Given the description of an element on the screen output the (x, y) to click on. 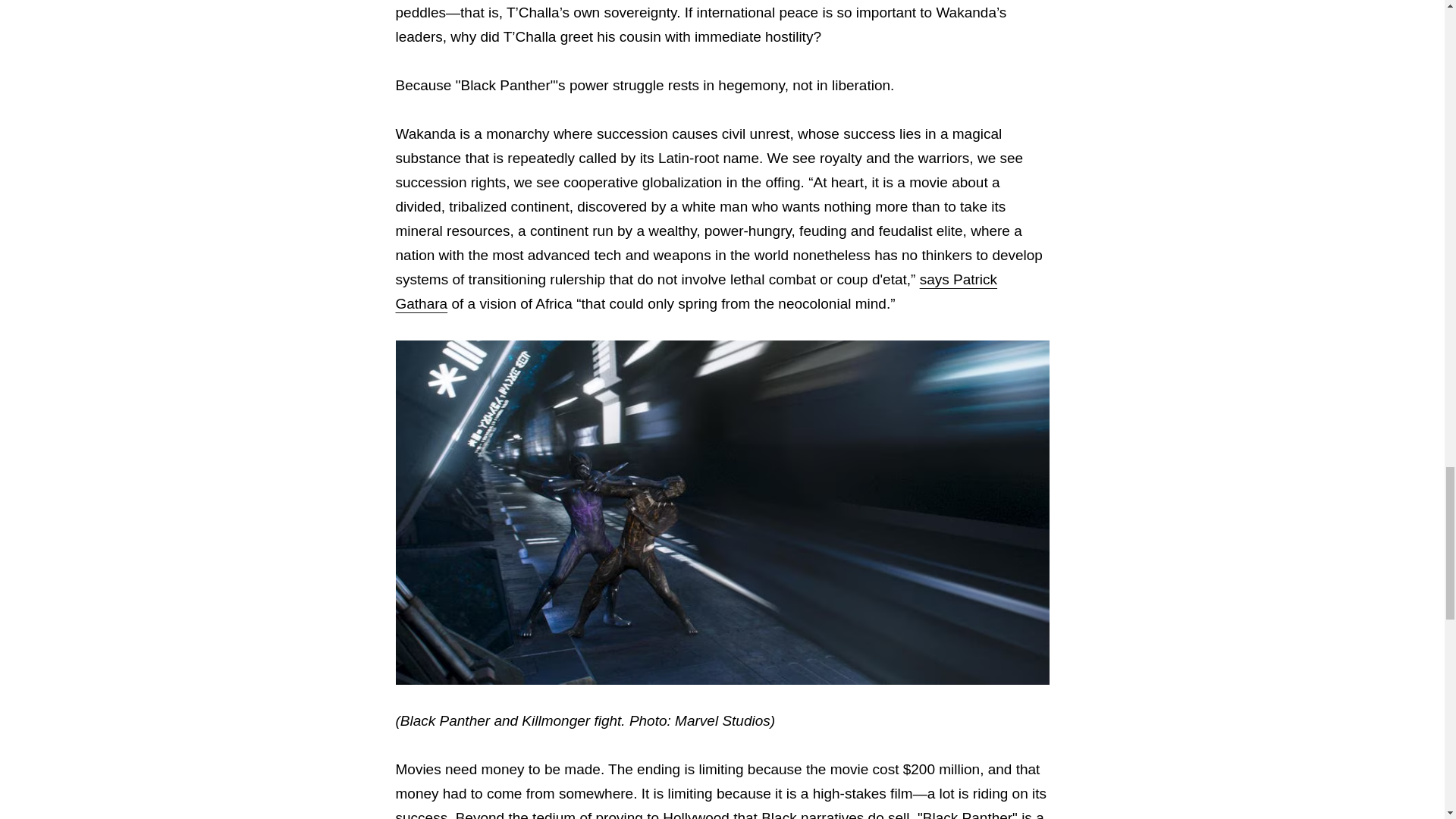
says Patrick Gathara (696, 291)
proving to Hollywood that Black narratives do sell (752, 814)
